Given the description of an element on the screen output the (x, y) to click on. 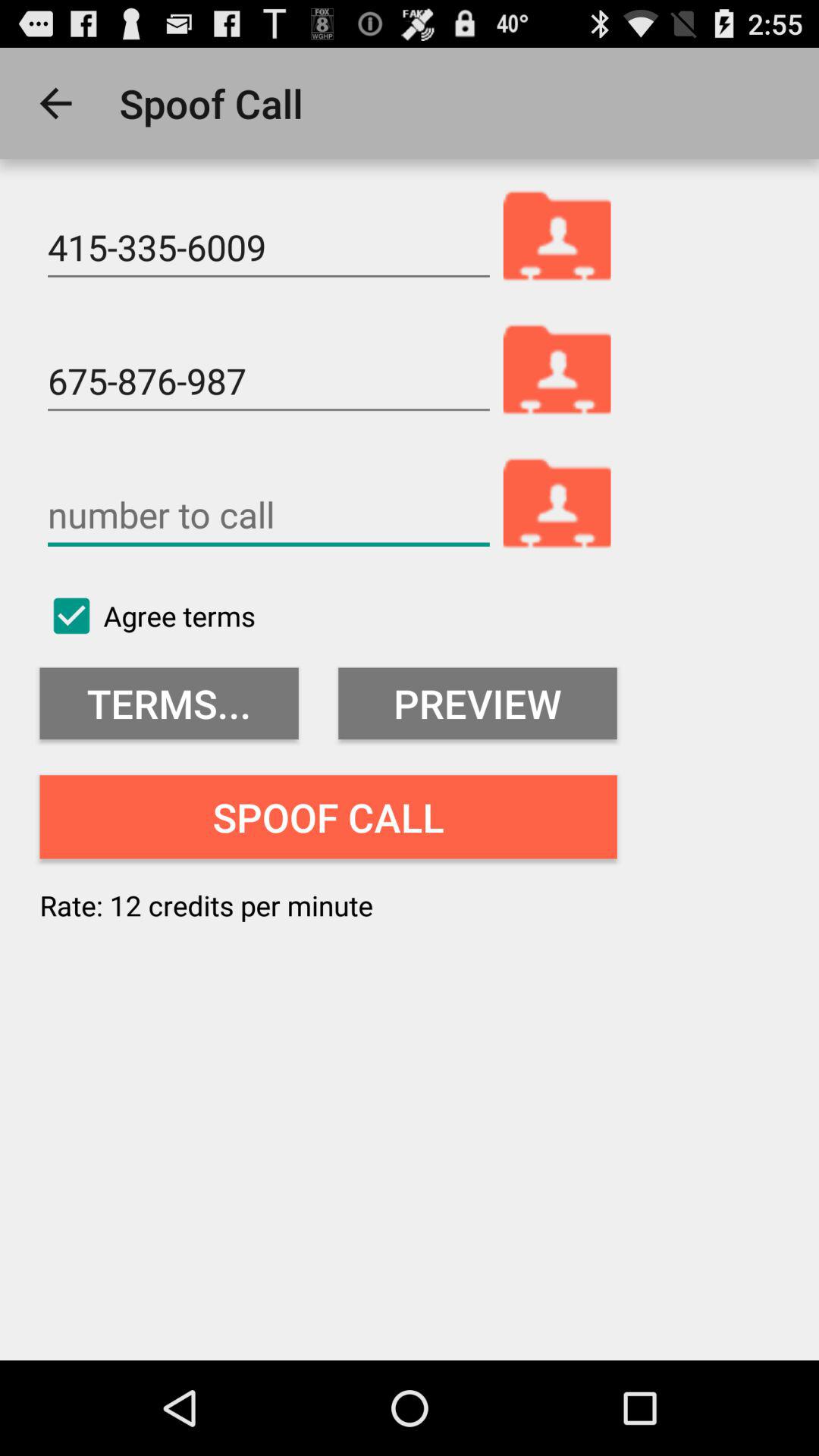
flip to the 415-335-6009 (268, 247)
